Given the description of an element on the screen output the (x, y) to click on. 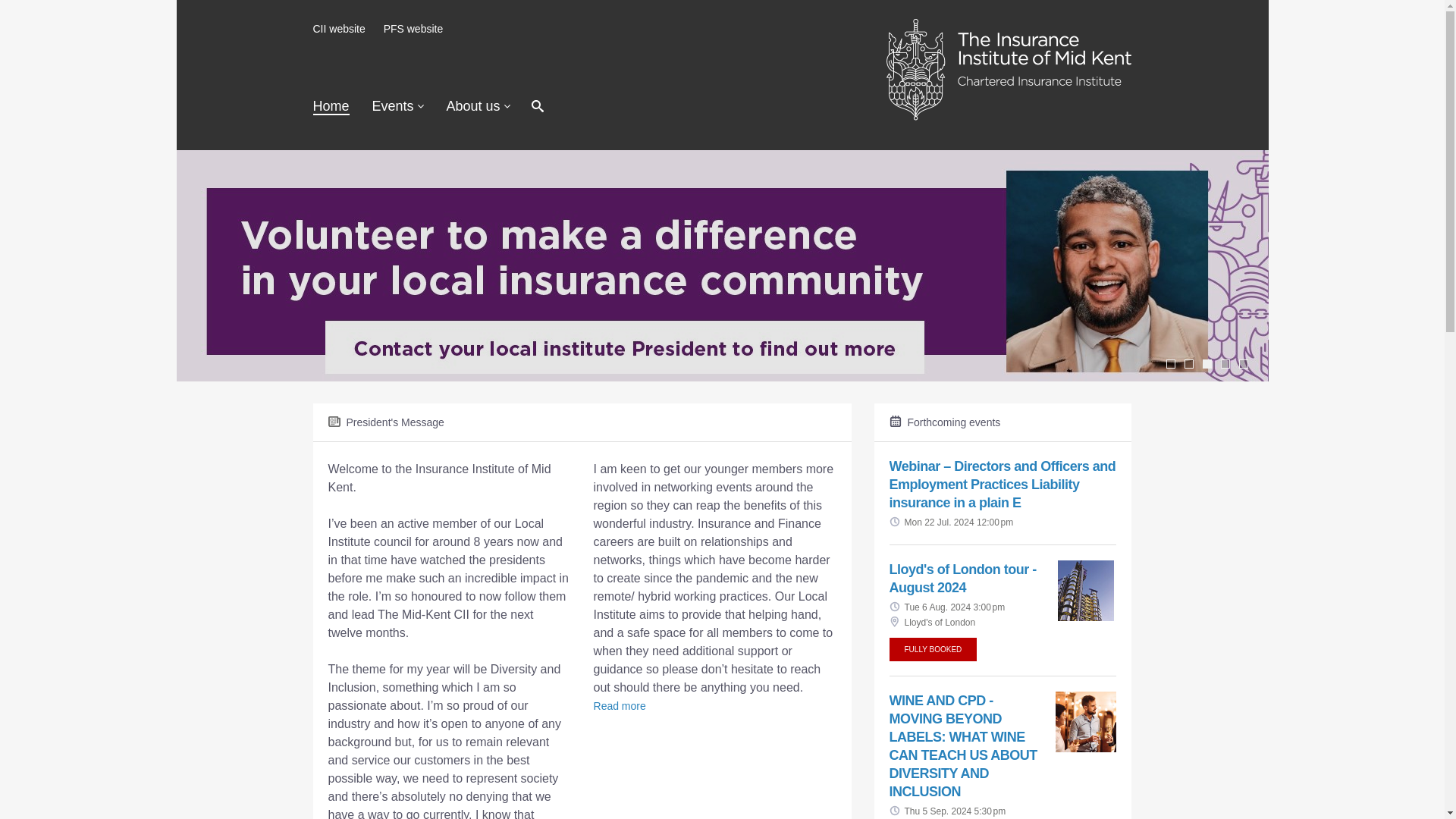
4 (1225, 363)
PFS website (414, 28)
5 (1243, 363)
Forthcoming events (1020, 422)
Events (397, 105)
About us (478, 105)
2 (1189, 363)
1 (1170, 363)
3 (1206, 363)
CII website (339, 28)
Go (735, 106)
Read more (618, 705)
